Given the description of an element on the screen output the (x, y) to click on. 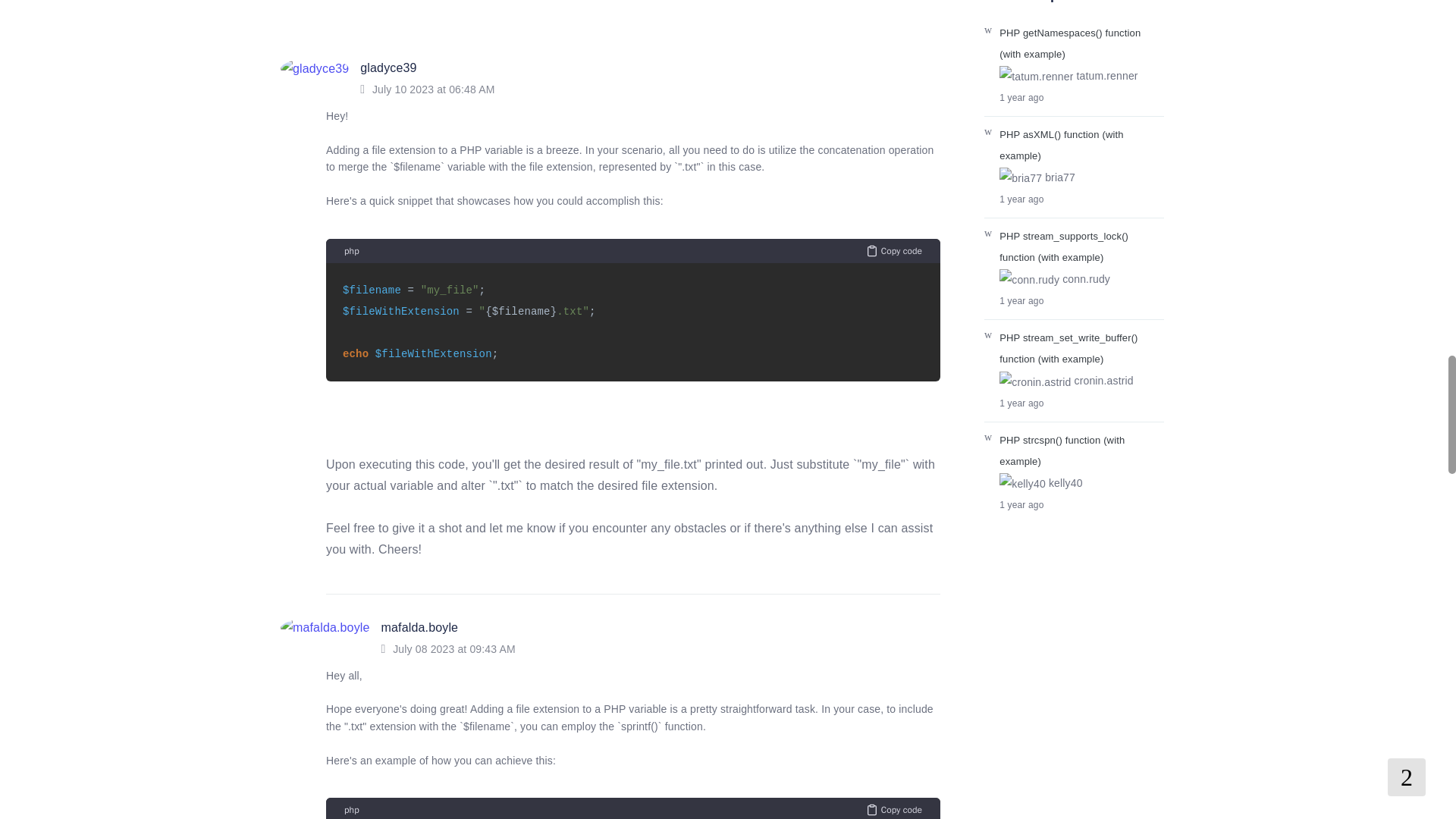
Advertisement (610, 10)
